Given the description of an element on the screen output the (x, y) to click on. 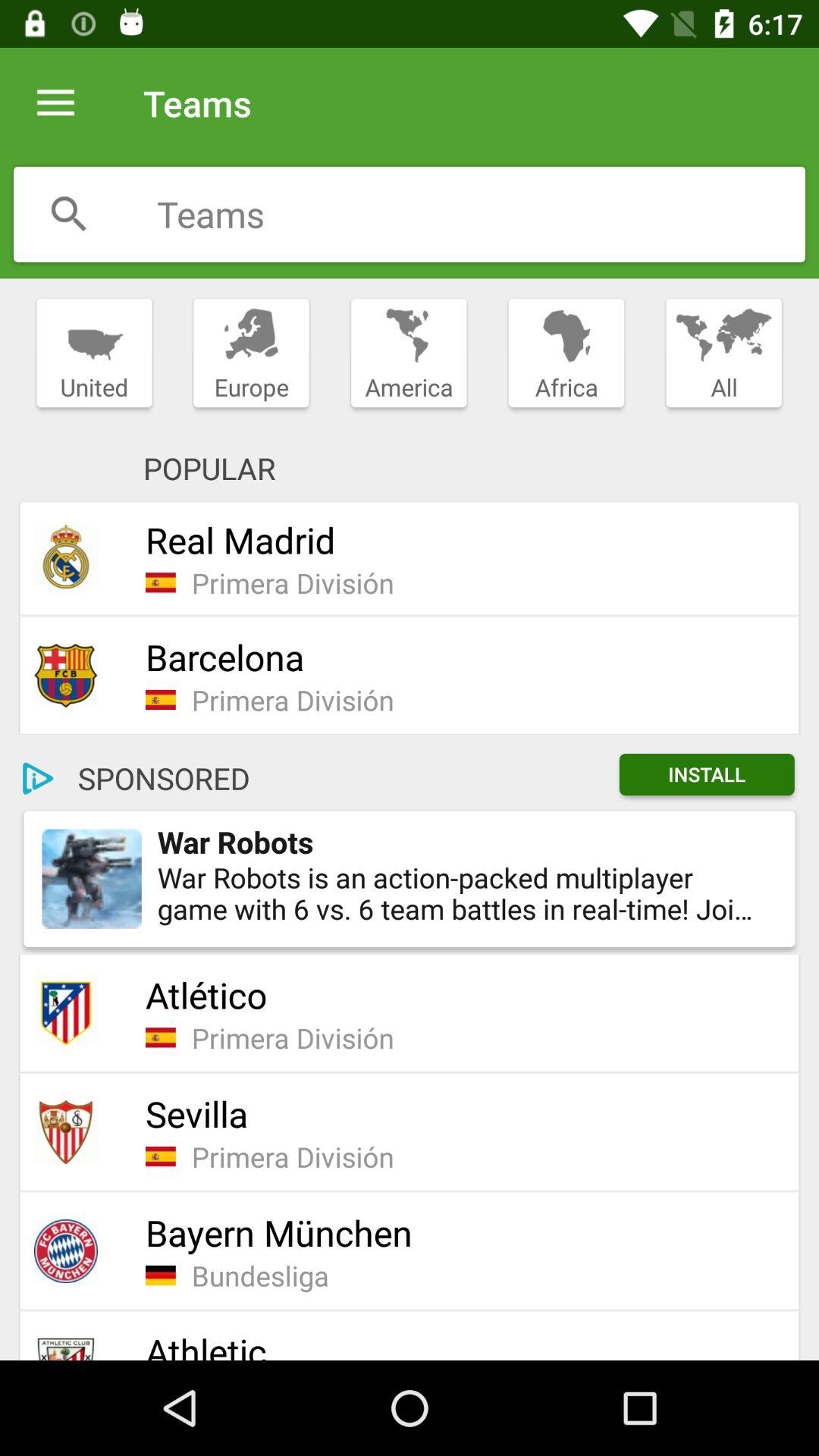
turn on bundesliga item (485, 1275)
